Given the description of an element on the screen output the (x, y) to click on. 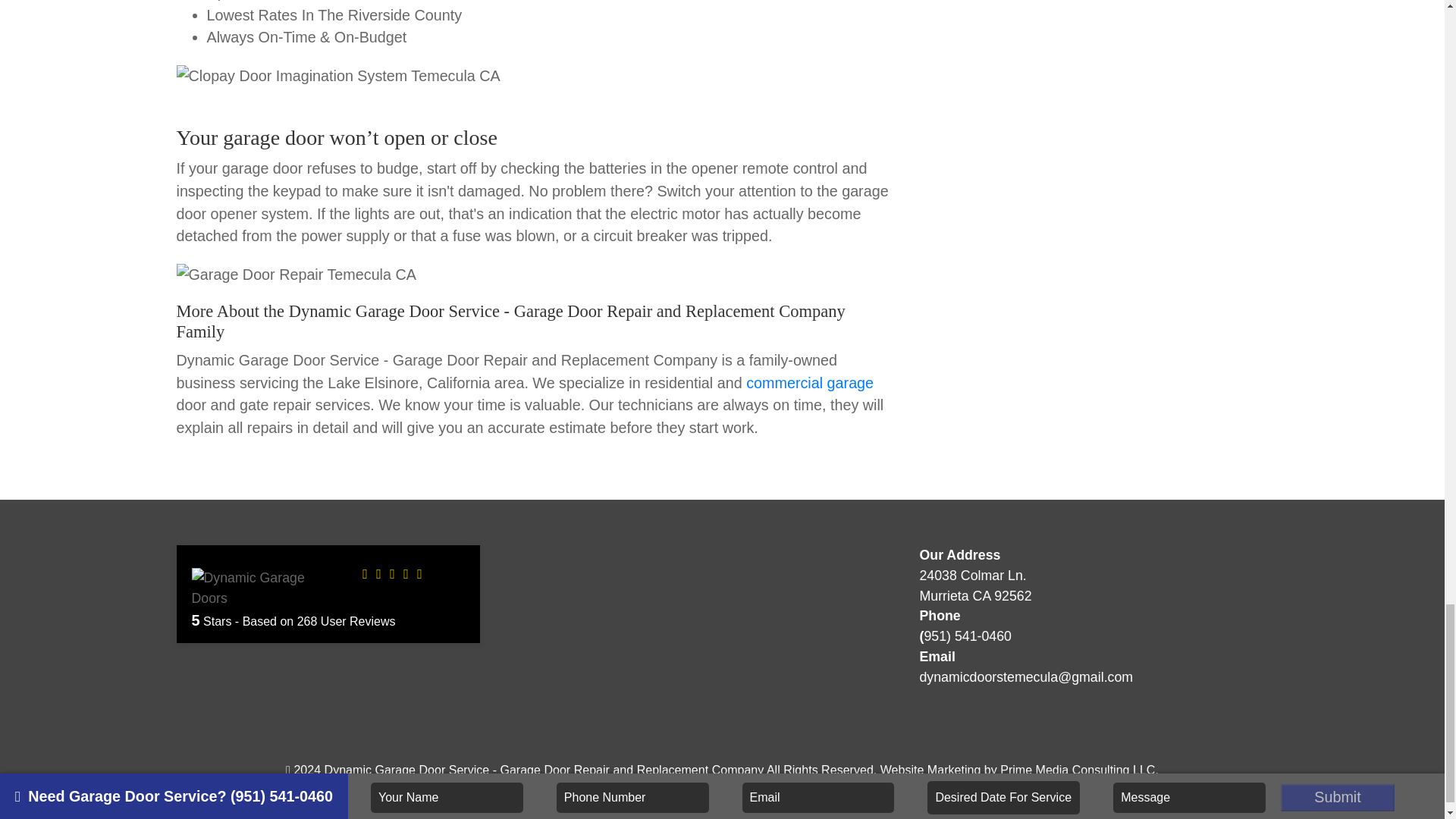
Privacy Policy (641, 795)
commercial garage (809, 382)
Sitemap (861, 795)
Prime Media Consulting LLC (1077, 769)
Contact Us (798, 795)
268 User Reviews (346, 621)
Home (576, 795)
Accessibility (723, 795)
